Given the description of an element on the screen output the (x, y) to click on. 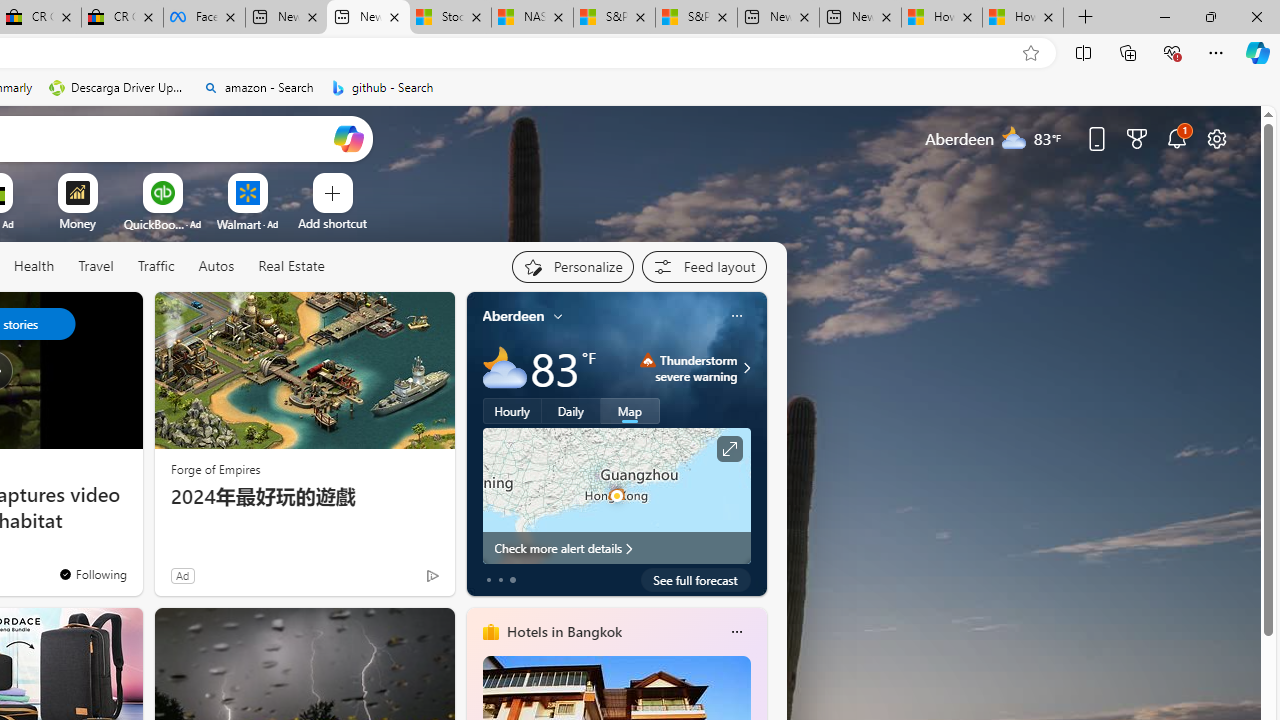
Thunderstorm - Severe Thunderstorm severe warning (689, 367)
Travel (95, 265)
Personalize your feed" (571, 266)
Autos (216, 267)
My location (558, 315)
tab-1 (500, 579)
Real Estate (290, 267)
Real Estate (291, 265)
You're following FOX News (92, 573)
Traffic (155, 265)
